Given the description of an element on the screen output the (x, y) to click on. 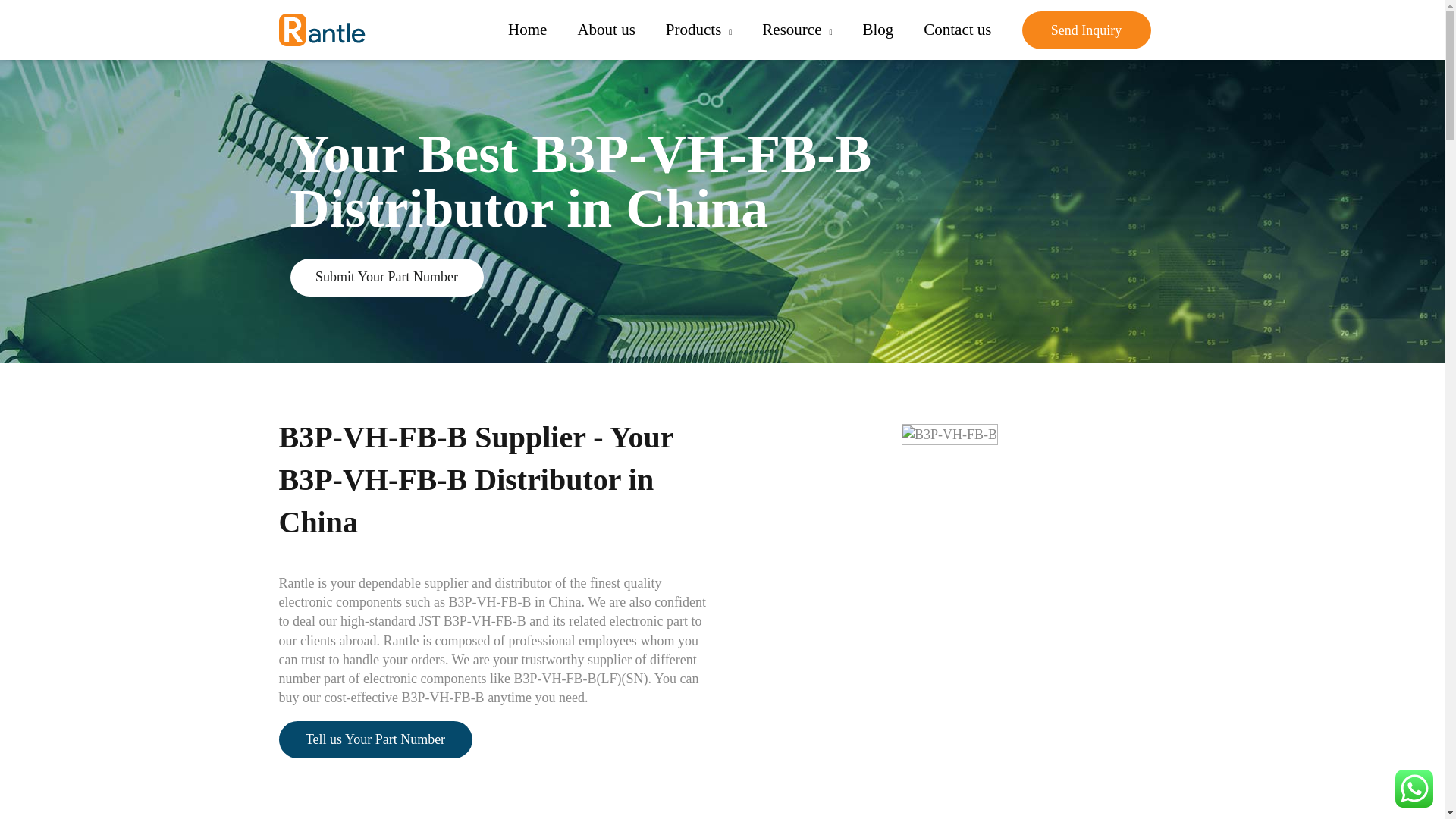
About us (605, 29)
Products (698, 29)
Home (527, 29)
